Given the description of an element on the screen output the (x, y) to click on. 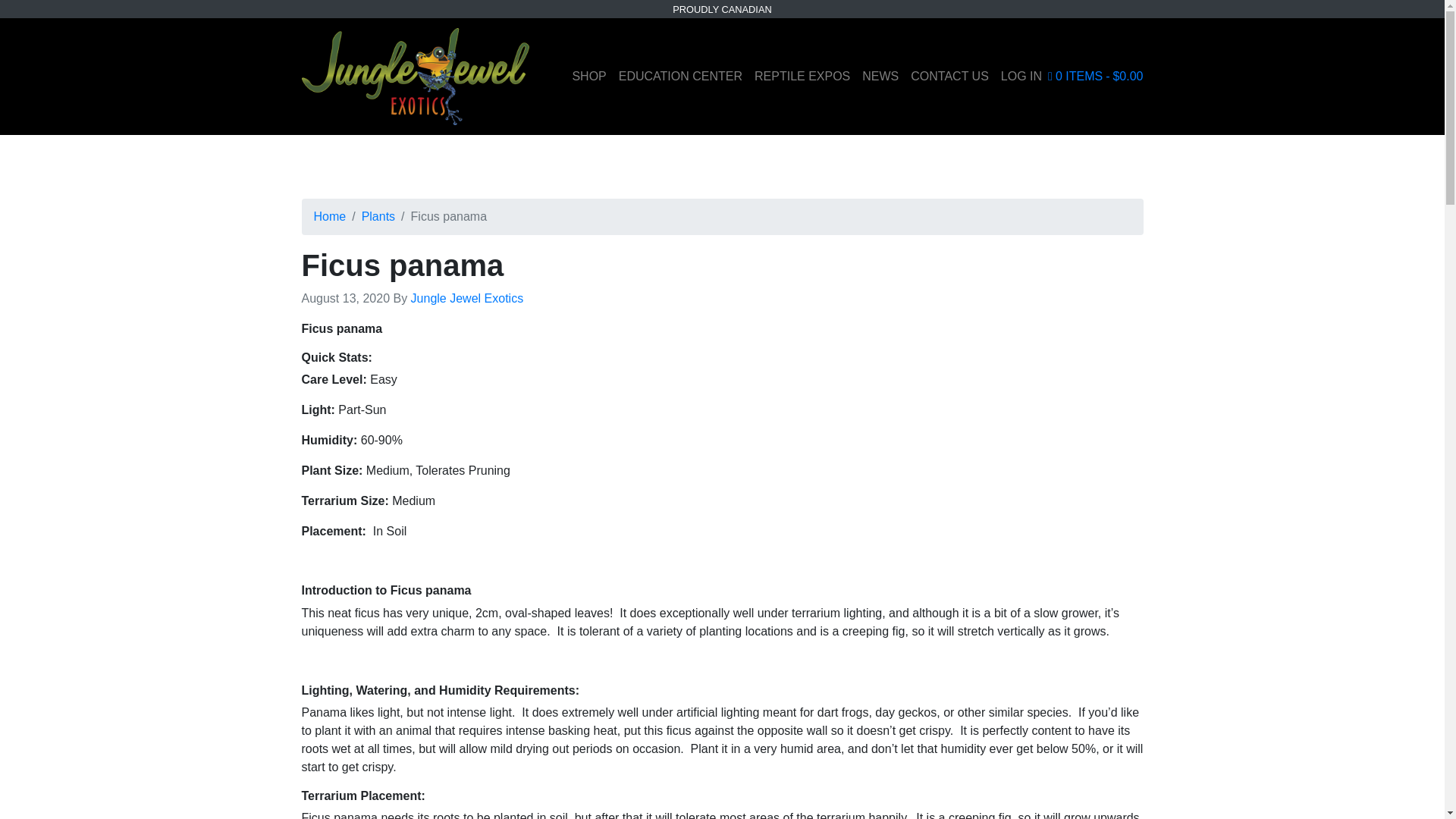
REPTILE EXPOS (802, 76)
Shop (588, 76)
NEWS (880, 76)
EDUCATION CENTER (680, 76)
CONTACT US (949, 76)
LOG IN (1021, 76)
SHOP (588, 76)
PROUDLY CANADIAN (721, 9)
